Given the description of an element on the screen output the (x, y) to click on. 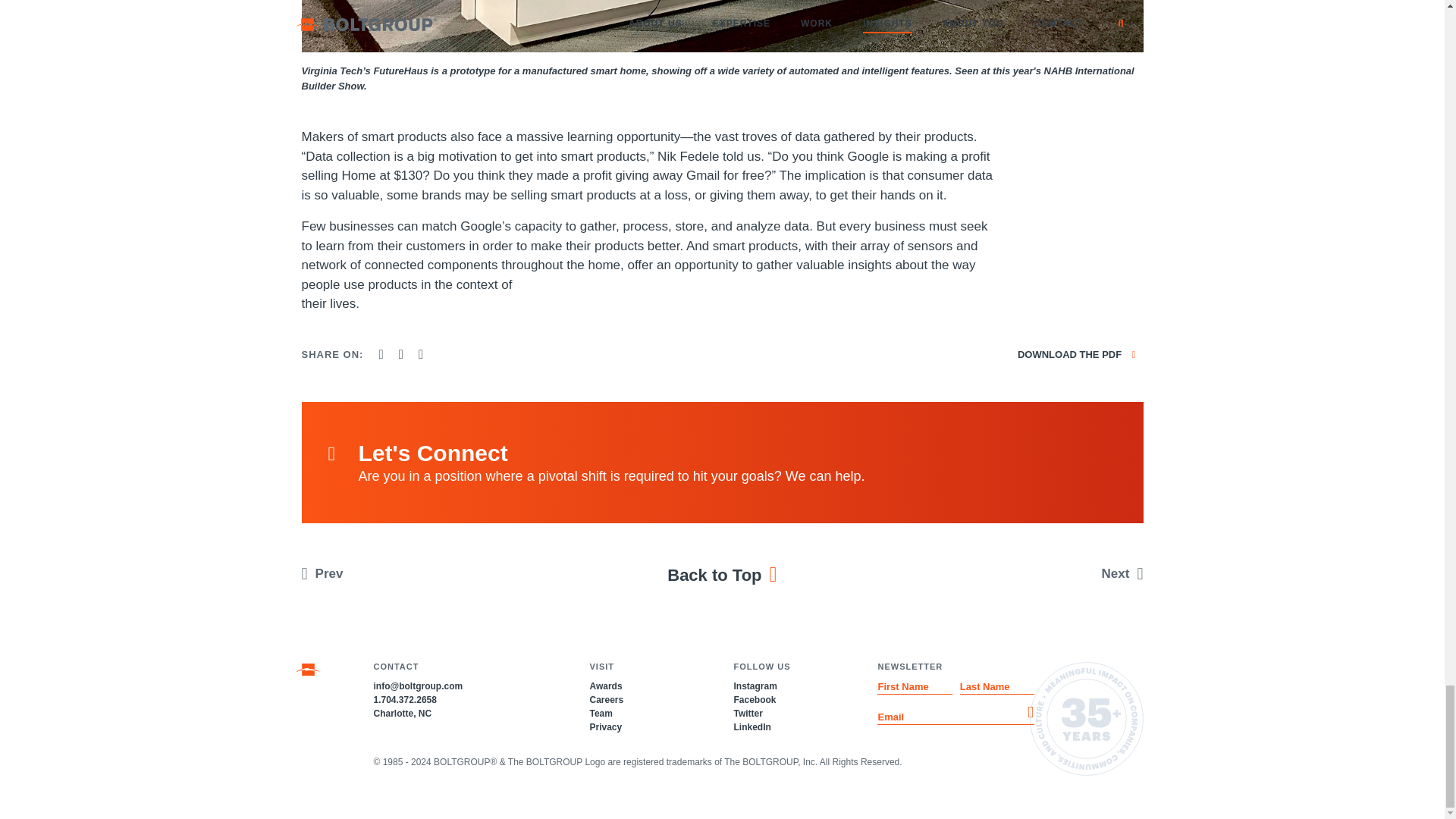
LinkedIn (751, 726)
Careers (606, 699)
Prev (398, 573)
Twitter (747, 713)
Facebook (754, 699)
Privacy (605, 726)
Awards (605, 685)
1.704.372.2658 (403, 699)
Team (600, 713)
Next (1045, 573)
DOWNLOAD THE PDF (1076, 354)
Instagram (754, 685)
